Given the description of an element on the screen output the (x, y) to click on. 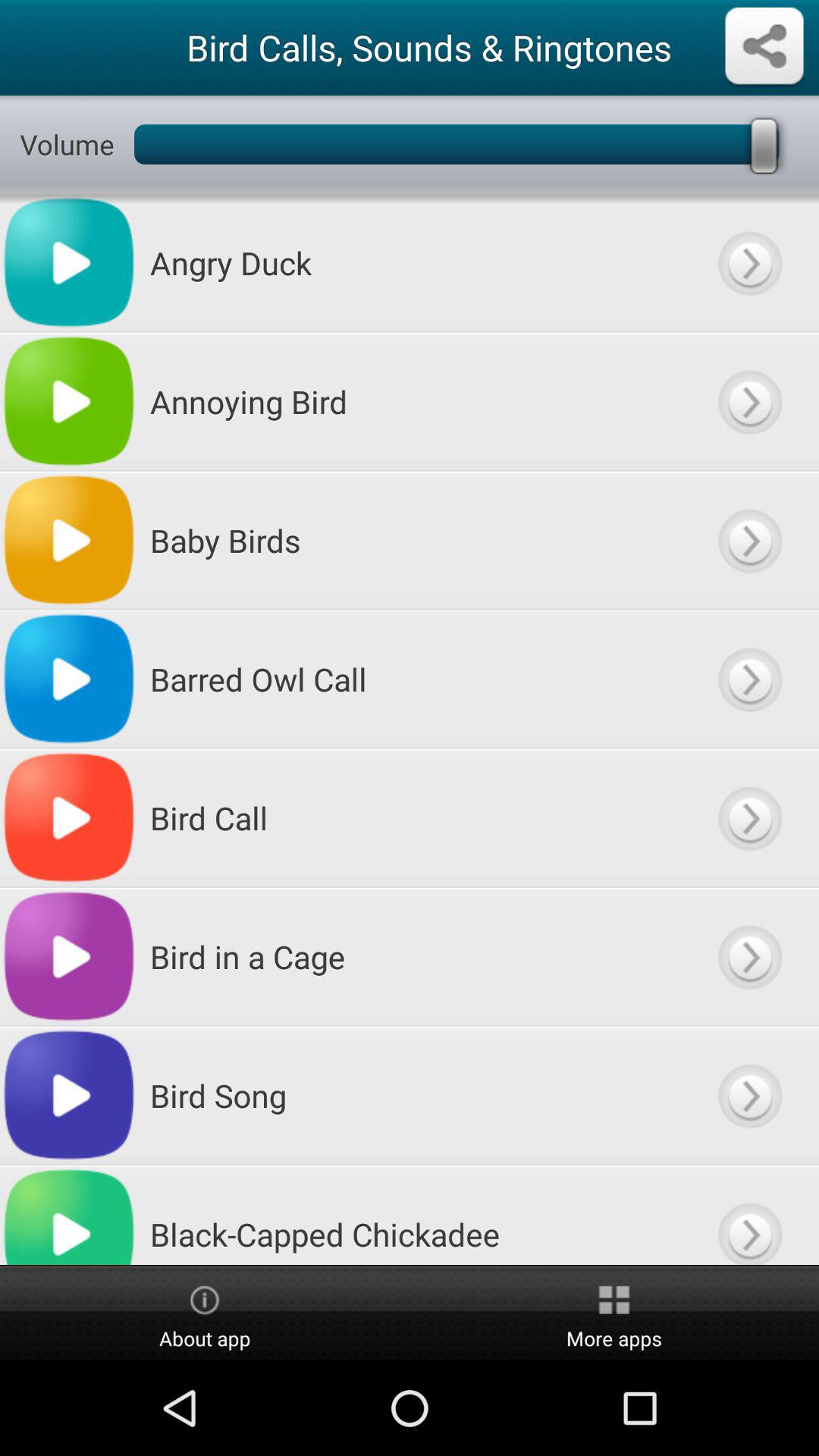
share button (764, 47)
